Given the description of an element on the screen output the (x, y) to click on. 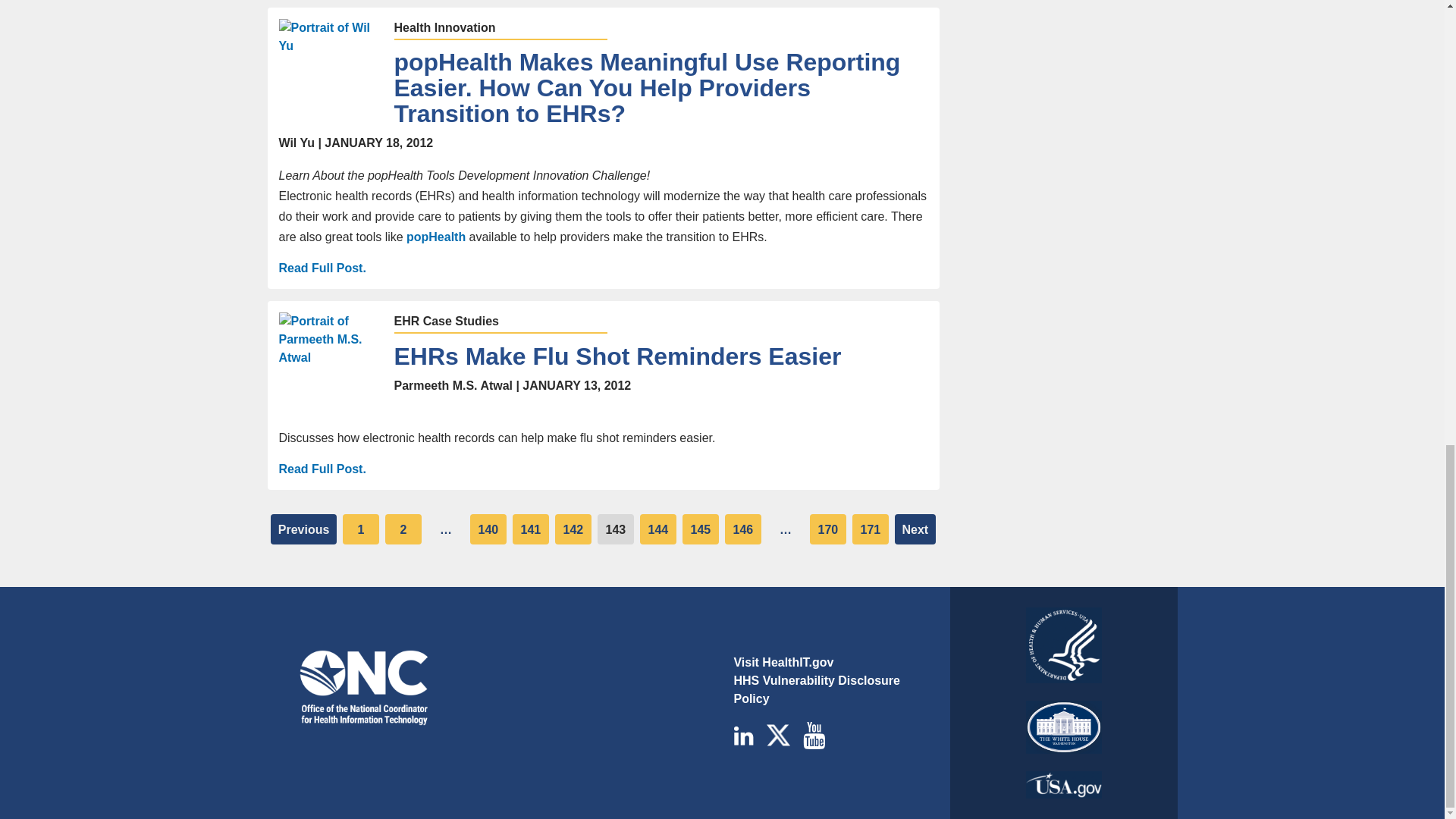
popHealth (437, 236)
EHRs Make Flu Shot Reminders Easier (661, 356)
Previous (303, 529)
EHR Case Studies (446, 321)
Read Full Post. (322, 469)
Health Innovation (445, 27)
Read Full Post. (322, 268)
